Given the description of an element on the screen output the (x, y) to click on. 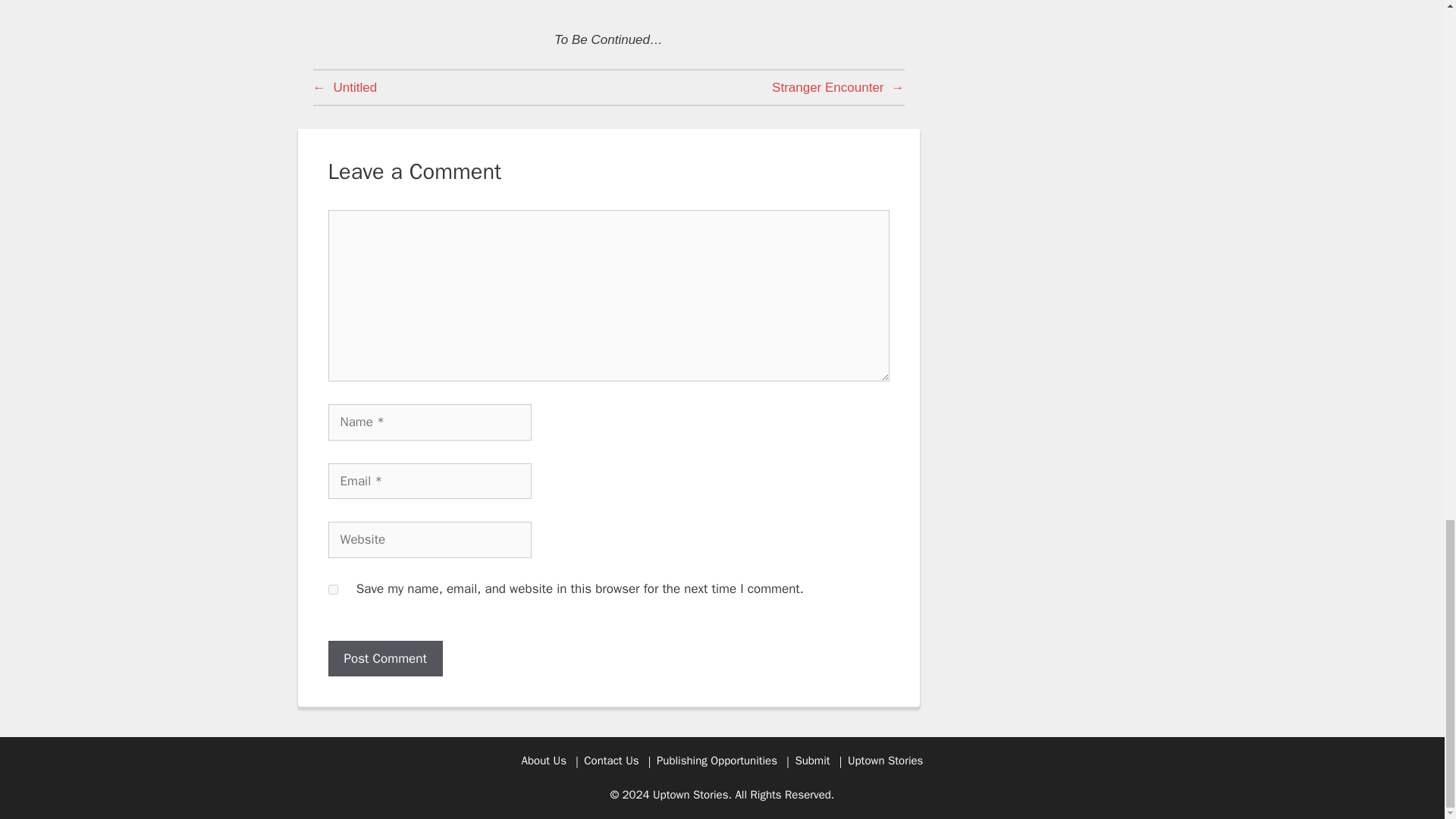
yes (332, 589)
Post Comment (384, 658)
